Given the description of an element on the screen output the (x, y) to click on. 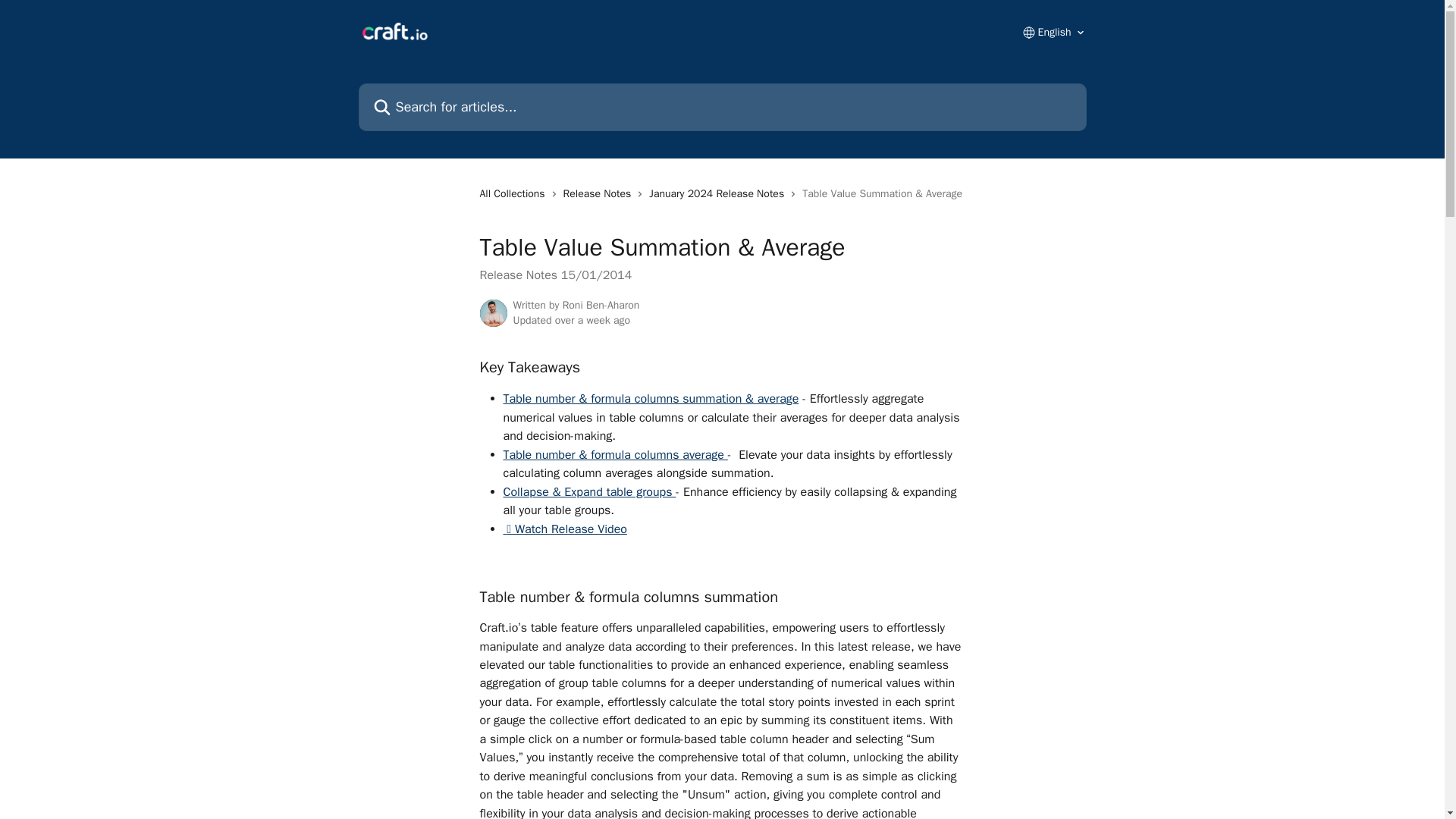
January 2024 Release Notes (719, 193)
Release Notes (600, 193)
All Collections (514, 193)
